Given the description of an element on the screen output the (x, y) to click on. 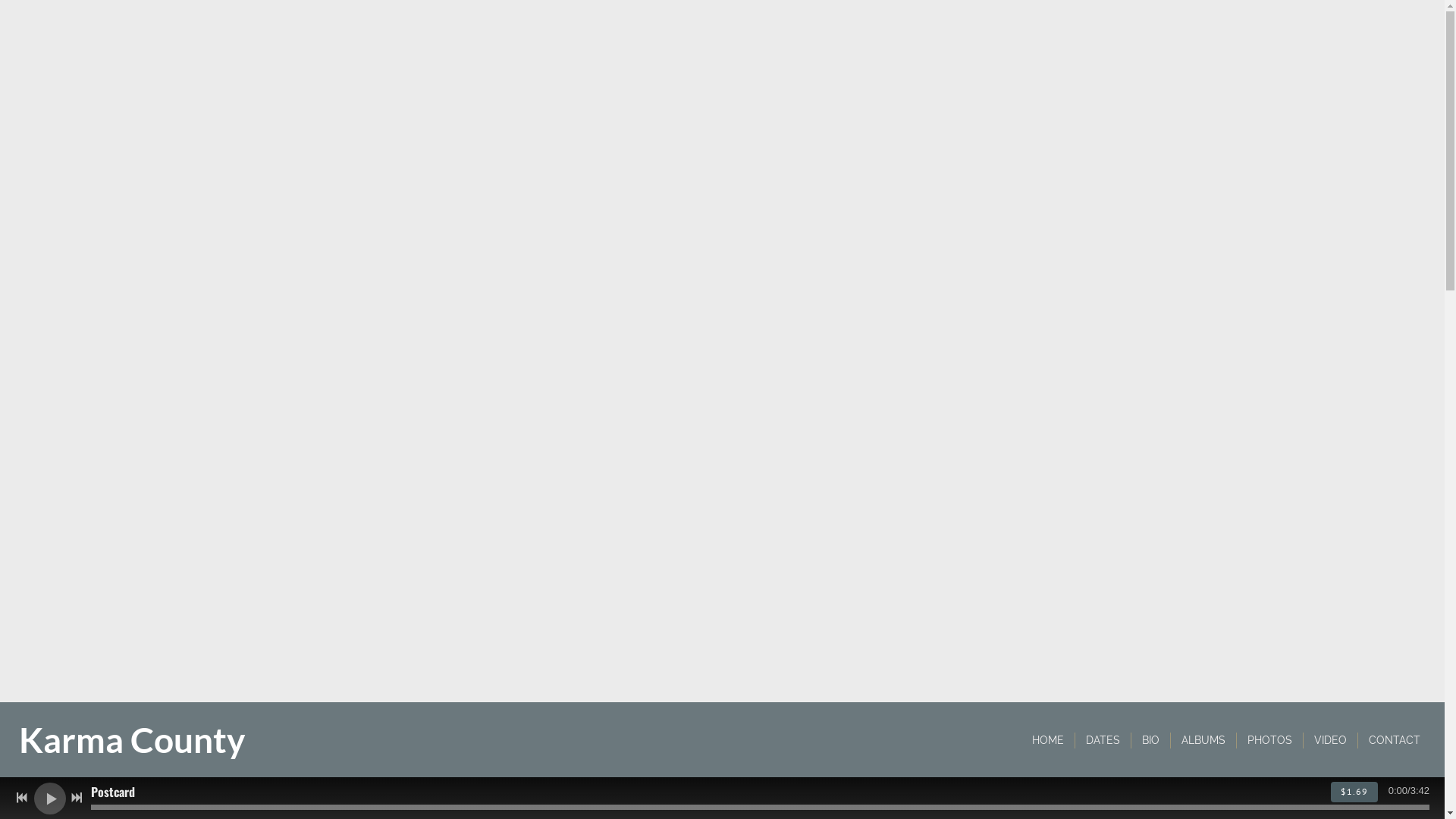
PHOTOS Element type: text (1269, 740)
DATES Element type: text (1102, 740)
Previous track Element type: hover (21, 797)
Karma County Element type: text (131, 746)
Play Element type: hover (49, 797)
HOME Element type: text (1047, 740)
$1.69 Element type: text (1353, 791)
VIDEO Element type: text (1330, 740)
Next track Element type: hover (76, 797)
CONTACT Element type: text (1394, 740)
BIO Element type: text (1150, 740)
ALBUMS Element type: text (1203, 740)
